Given the description of an element on the screen output the (x, y) to click on. 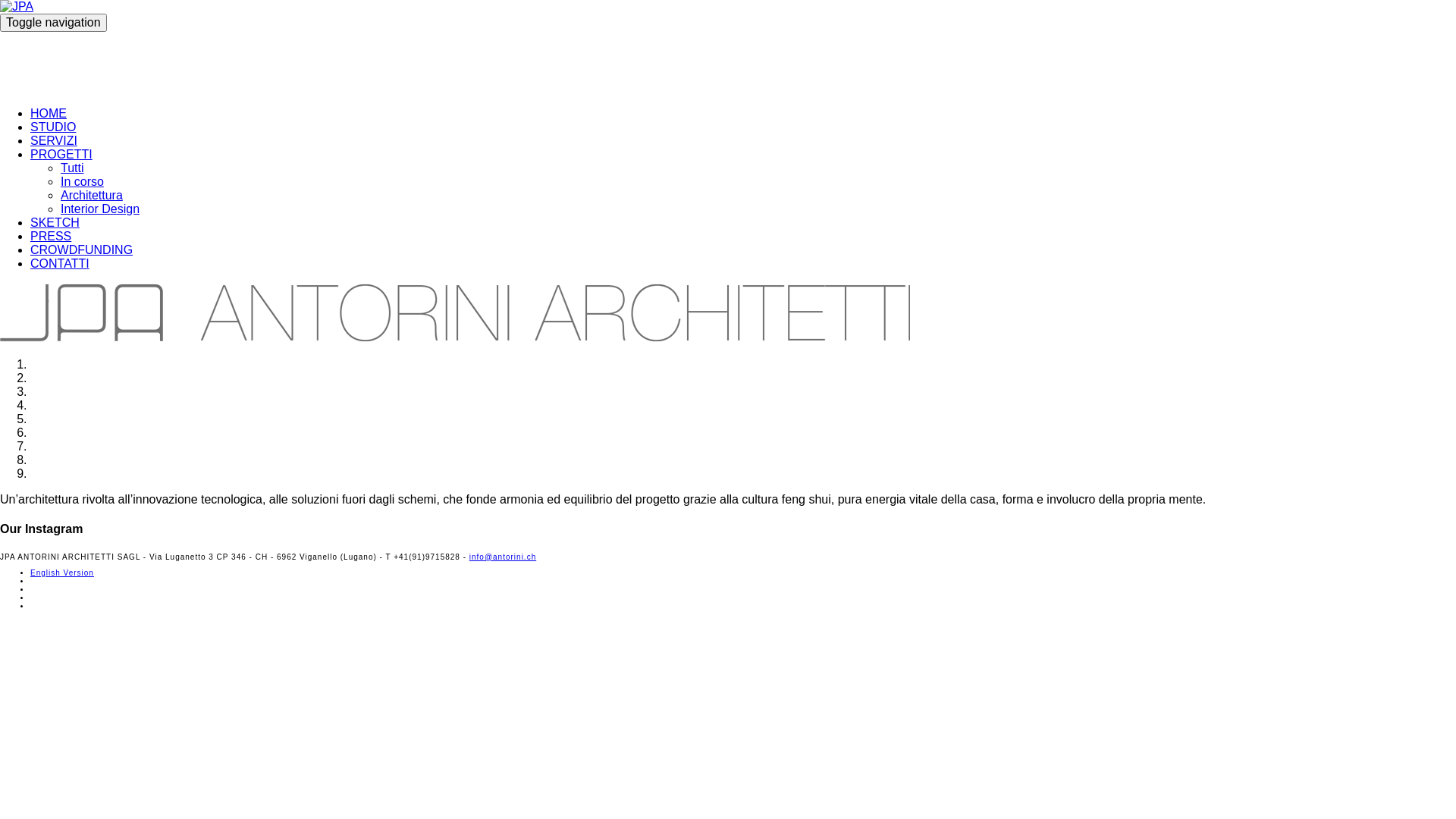
Tutti Element type: text (72, 167)
SKETCH Element type: text (54, 222)
SERVIZI Element type: text (53, 140)
info@antorini.ch Element type: text (502, 556)
In corso Element type: text (81, 181)
PROGETTI Element type: text (61, 153)
PRESS Element type: text (50, 235)
JPA Element type: hover (16, 6)
CROWDFUNDING Element type: text (81, 249)
CONTATTI Element type: text (59, 263)
English Version Element type: text (62, 572)
JPA Element type: hover (455, 312)
STUDIO Element type: text (52, 126)
HOME Element type: text (48, 112)
Interior Design Element type: text (99, 208)
JPA Element type: hover (455, 61)
Toggle navigation Element type: text (53, 22)
Architettura Element type: text (91, 194)
